Given the description of an element on the screen output the (x, y) to click on. 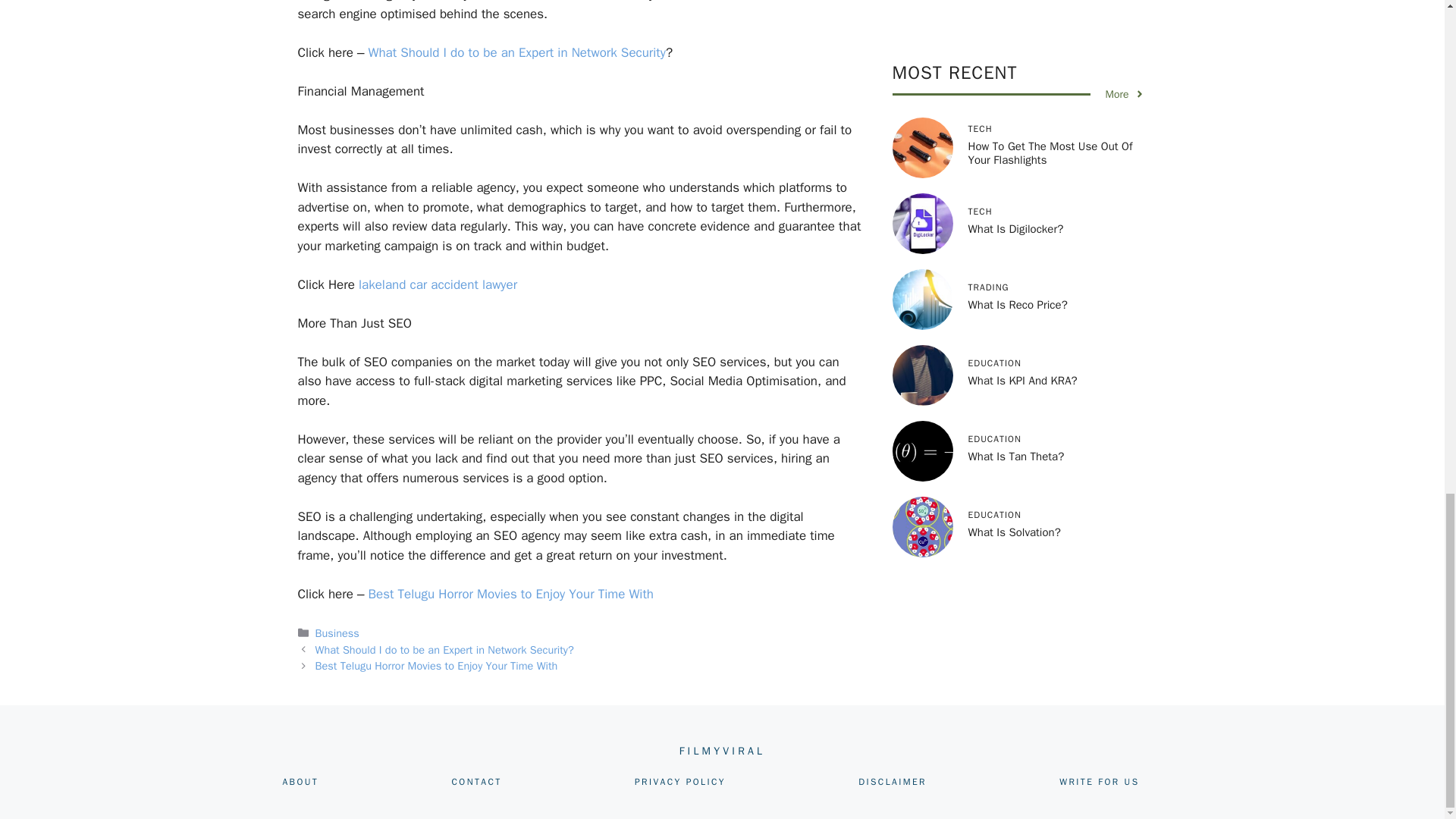
Best Telugu Horror Movies to Enjoy Your Time With (510, 593)
What Should I do to be an Expert in Network Security? (444, 649)
Business (337, 632)
lakeland car accident lawyer (437, 283)
Best Telugu Horror Movies to Enjoy Your Time With (436, 665)
What Should I do to be an Expert in Network Security (516, 51)
